Given the description of an element on the screen output the (x, y) to click on. 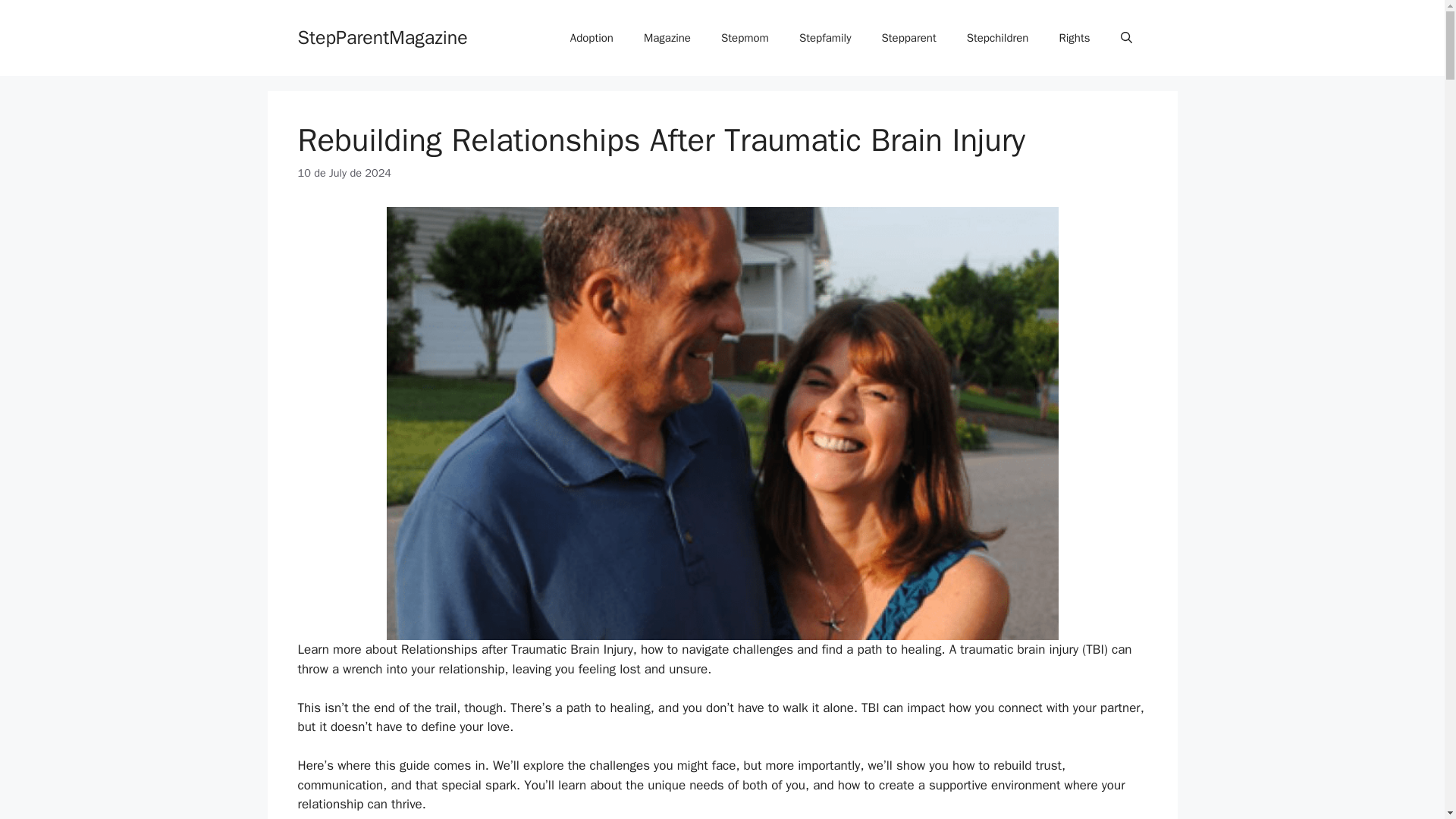
Stepmom (745, 37)
Rights (1074, 37)
StepParentMagazine (382, 37)
Stepfamily (825, 37)
Stepchildren (997, 37)
Magazine (667, 37)
Stepparent (908, 37)
Adoption (591, 37)
